Given the description of an element on the screen output the (x, y) to click on. 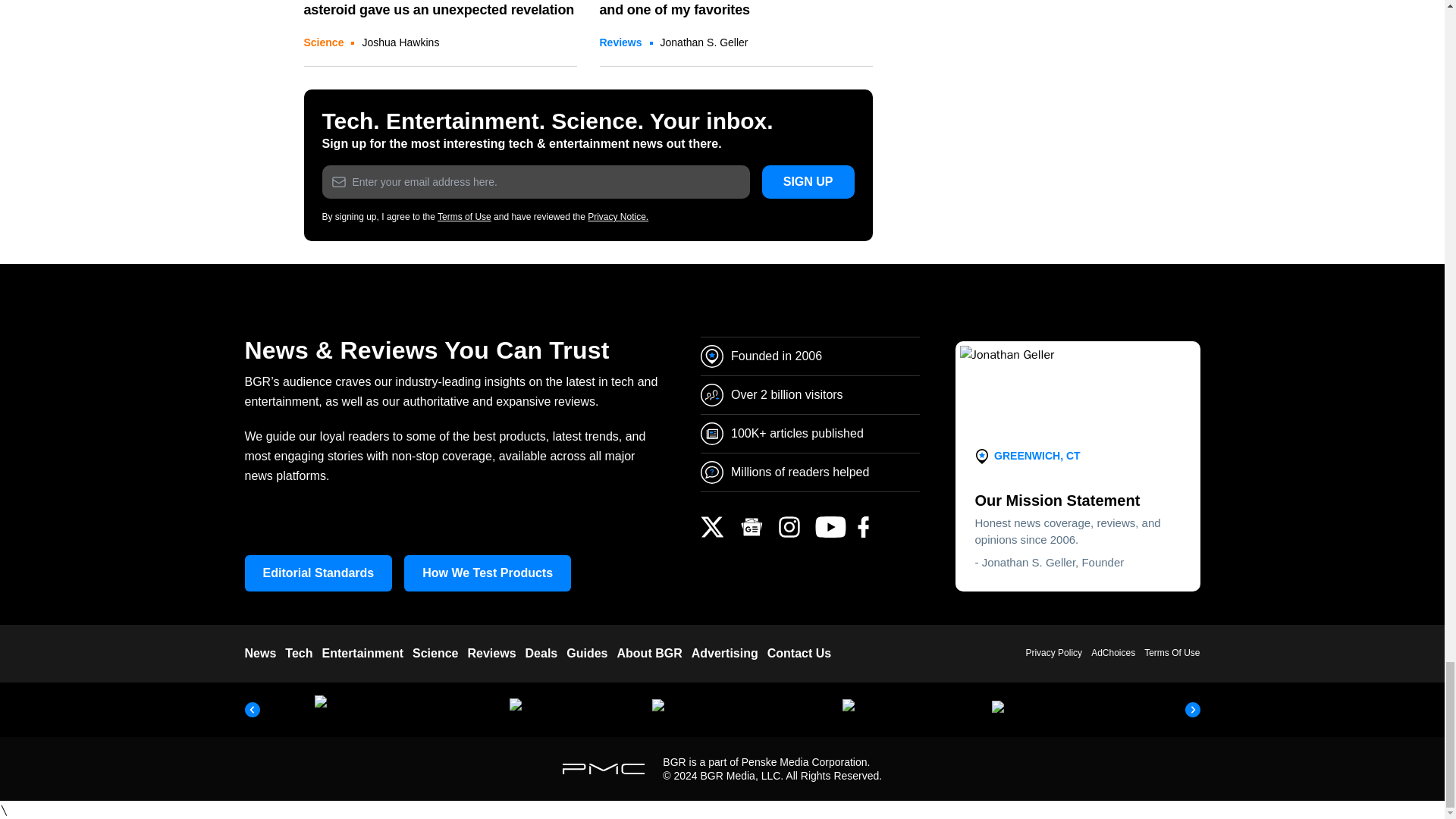
Posts by Joshua Hawkins (400, 42)
Posts by Jonathan S. Geller (704, 42)
